Given the description of an element on the screen output the (x, y) to click on. 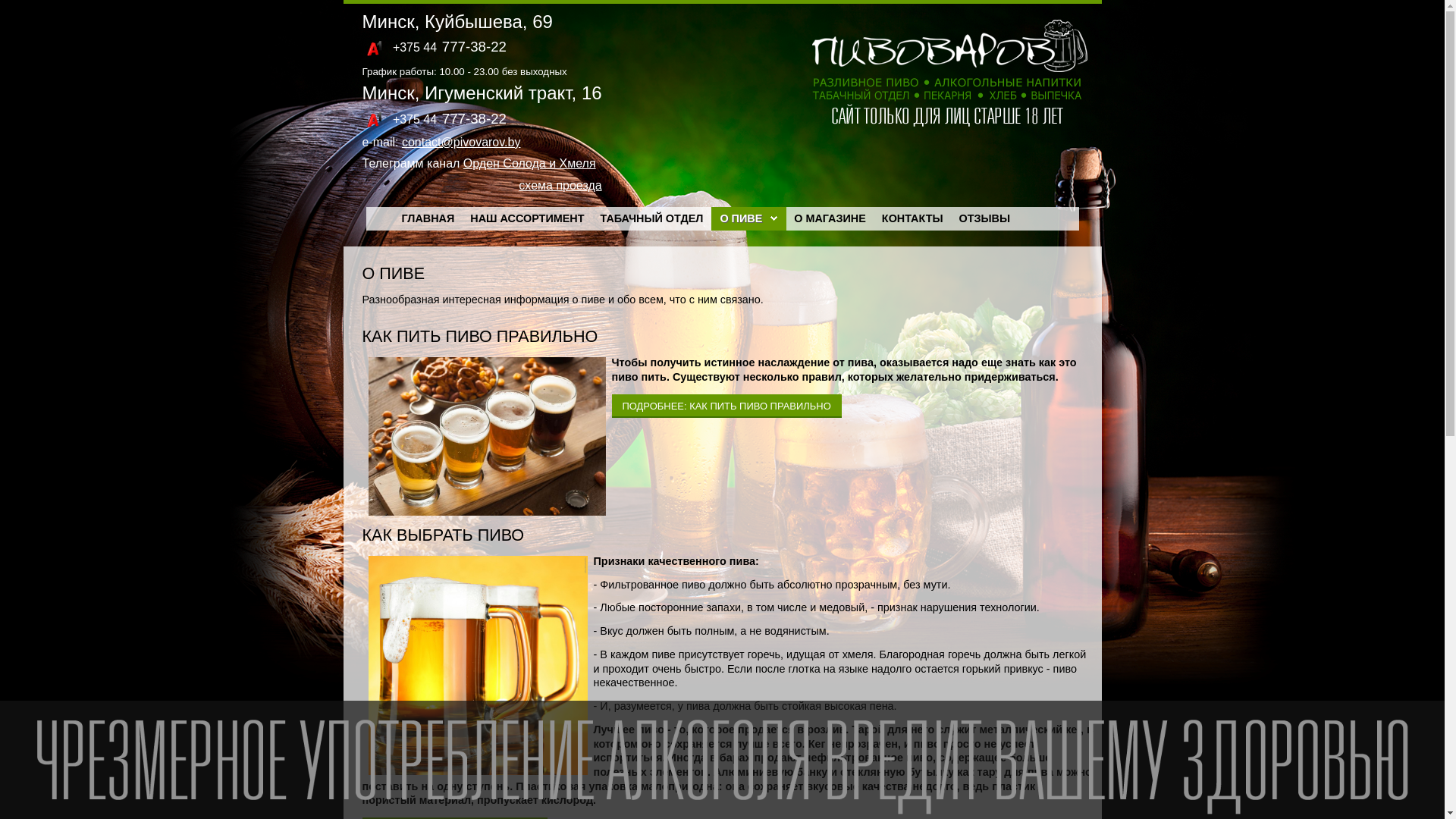
contact@pivovarov.by Element type: text (460, 141)
